Given the description of an element on the screen output the (x, y) to click on. 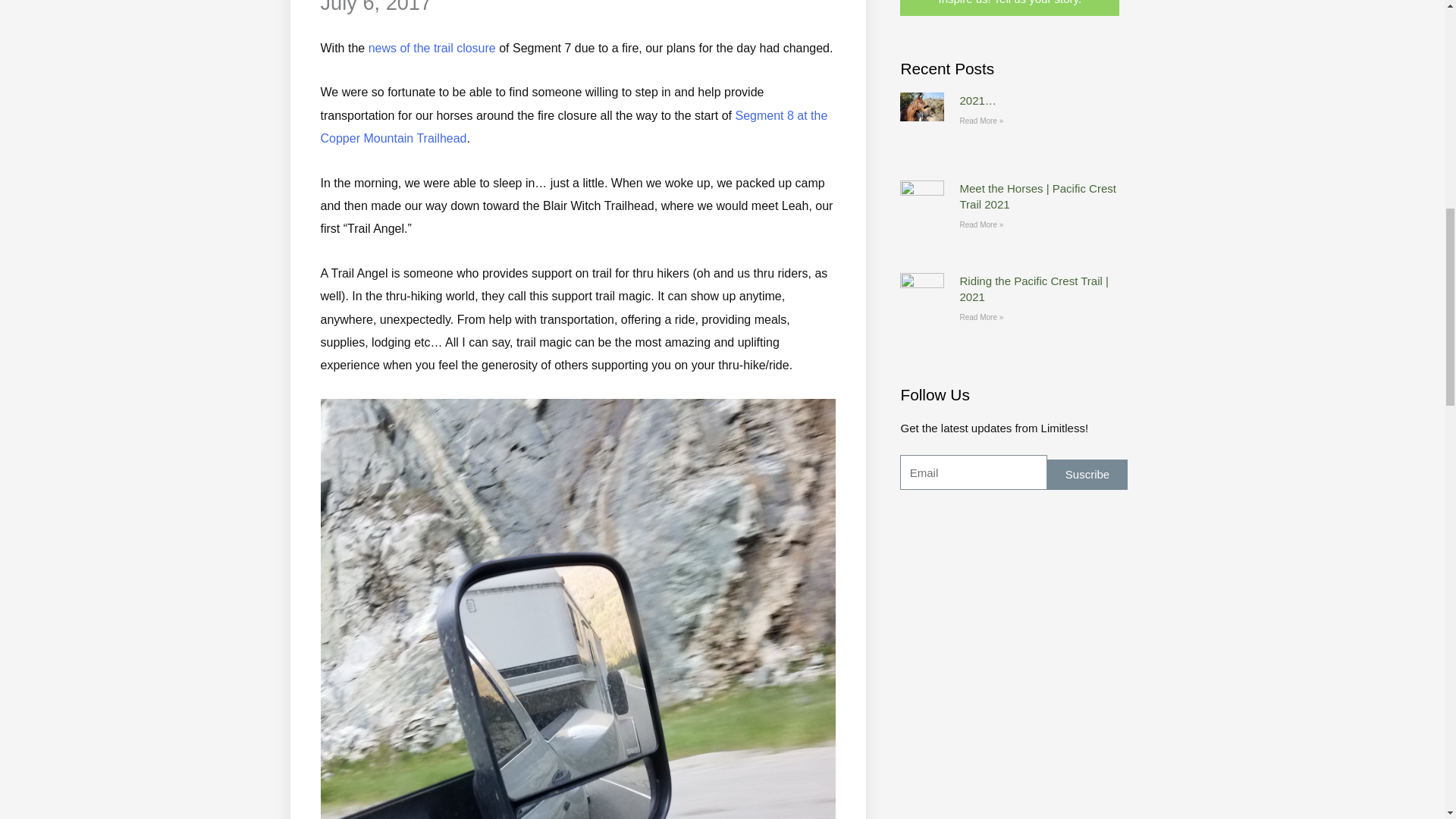
news of the trail closure (432, 47)
Segment 8 at the Copper Mountain Trailhead (573, 126)
